Given the description of an element on the screen output the (x, y) to click on. 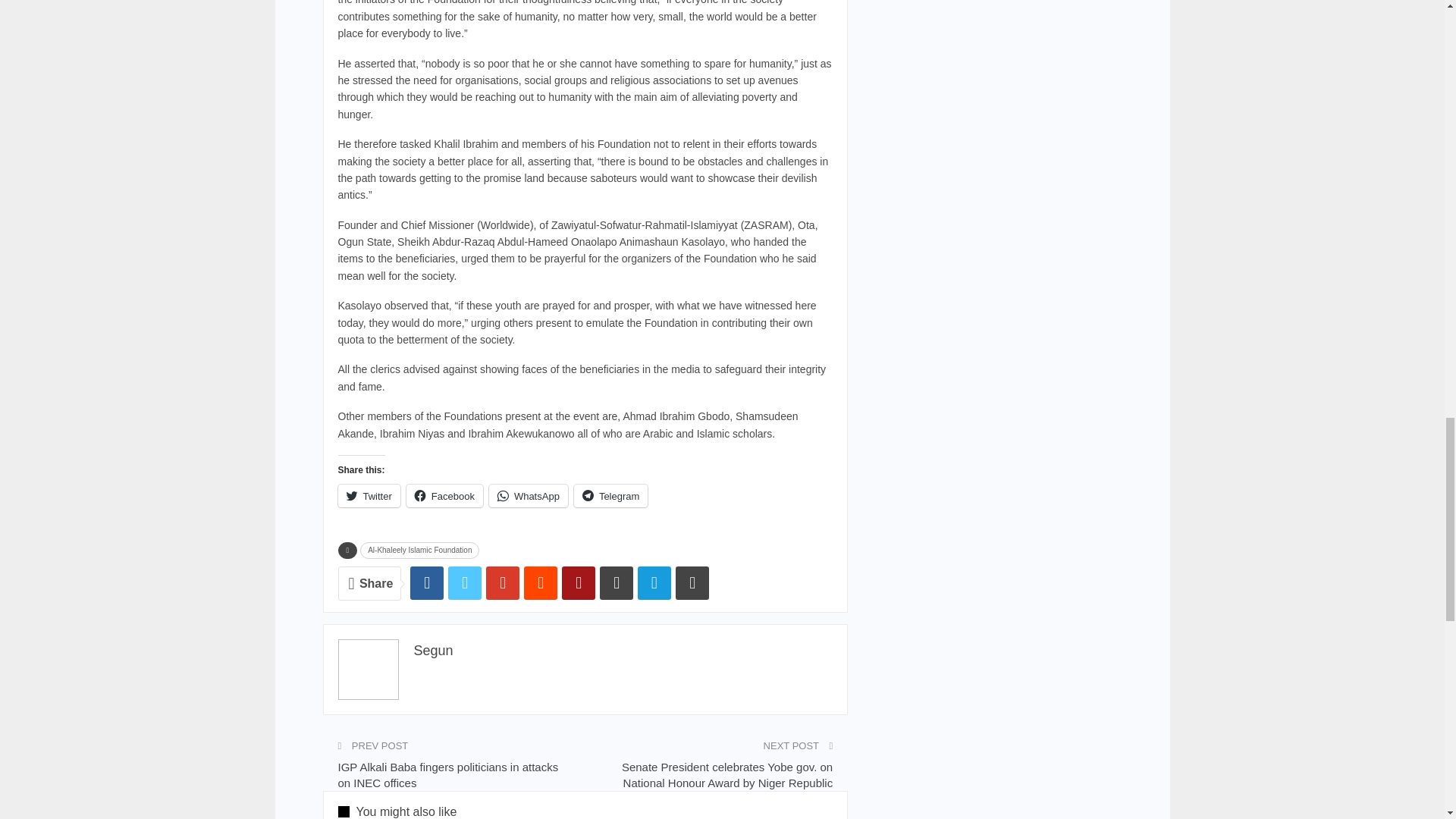
Click to share on Twitter (368, 495)
Click to share on Facebook (444, 495)
Click to share on Telegram (610, 495)
Click to share on WhatsApp (528, 495)
